Given the description of an element on the screen output the (x, y) to click on. 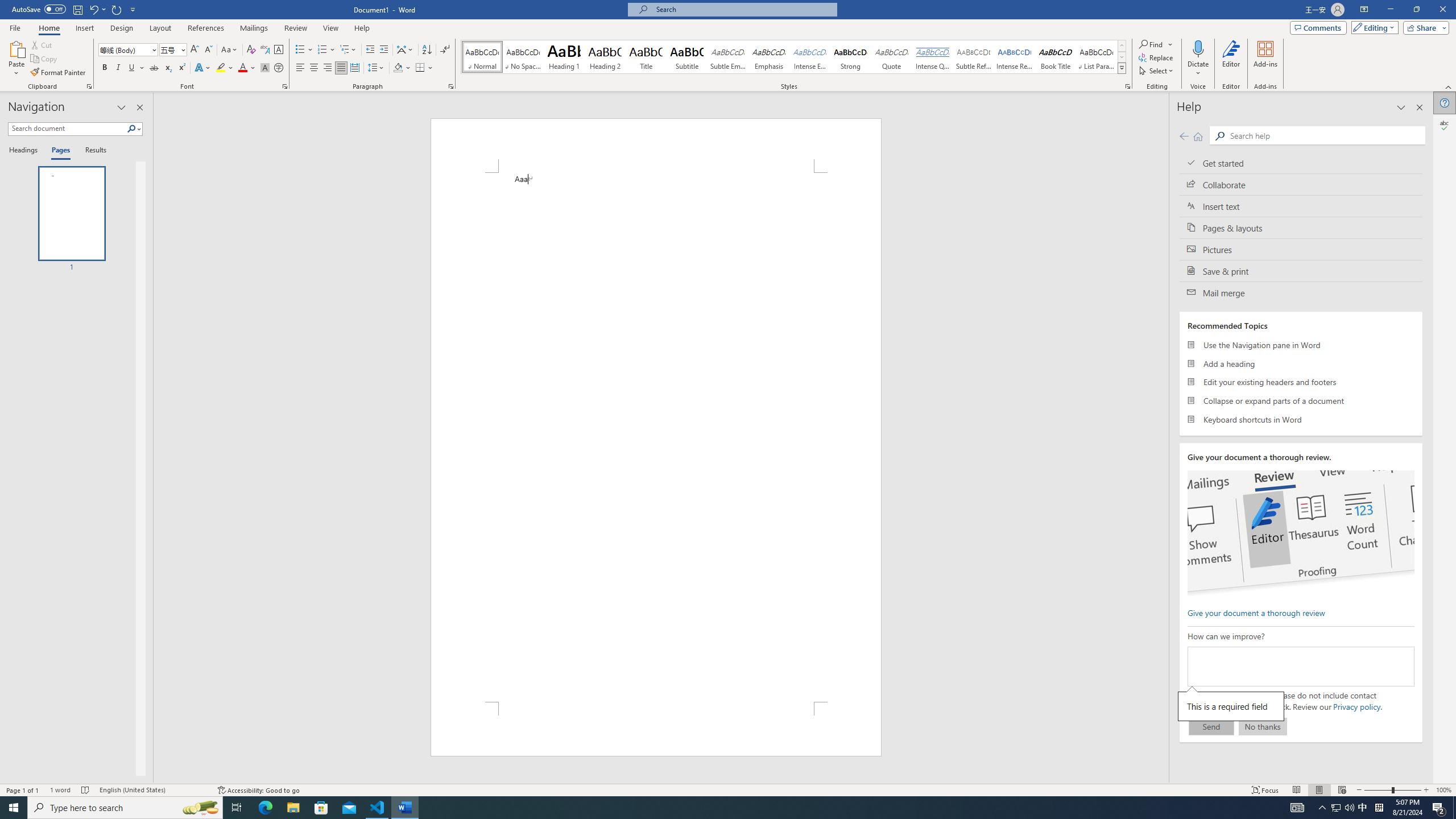
Intense Reference (1014, 56)
Quote (891, 56)
editor ui screenshot (1300, 533)
